Given the description of an element on the screen output the (x, y) to click on. 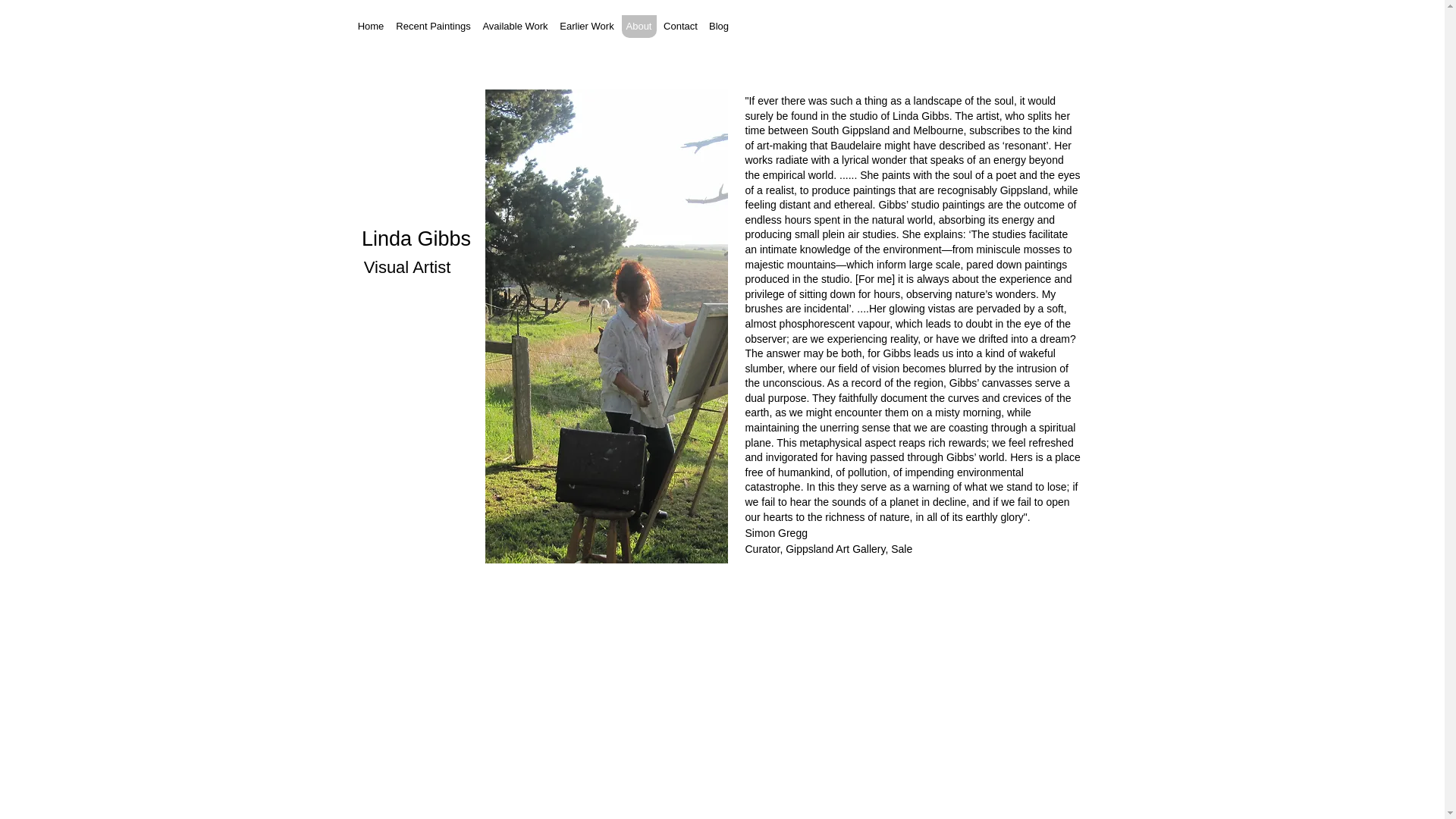
Home Element type: text (371, 26)
Contact Element type: text (680, 26)
Blog Element type: text (719, 26)
Recent Paintings Element type: text (432, 26)
Earlier Work Element type: text (586, 26)
Available Work Element type: text (514, 26)
About Element type: text (638, 26)
